Given the description of an element on the screen output the (x, y) to click on. 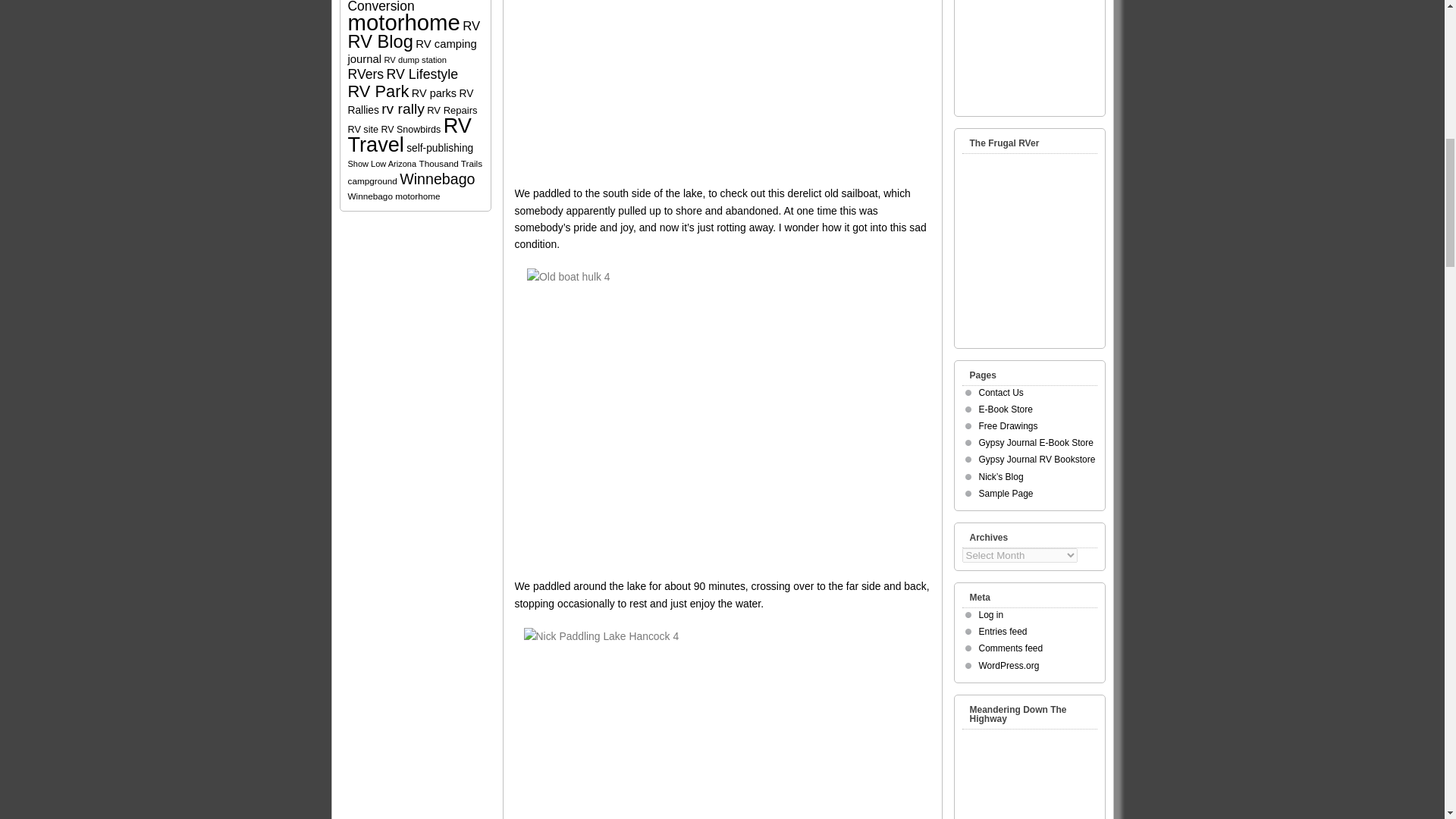
Nick Paddling Lake Hancock 4 (721, 723)
Nick head on 2 (721, 84)
Old boat hulk 4 (722, 414)
